Given the description of an element on the screen output the (x, y) to click on. 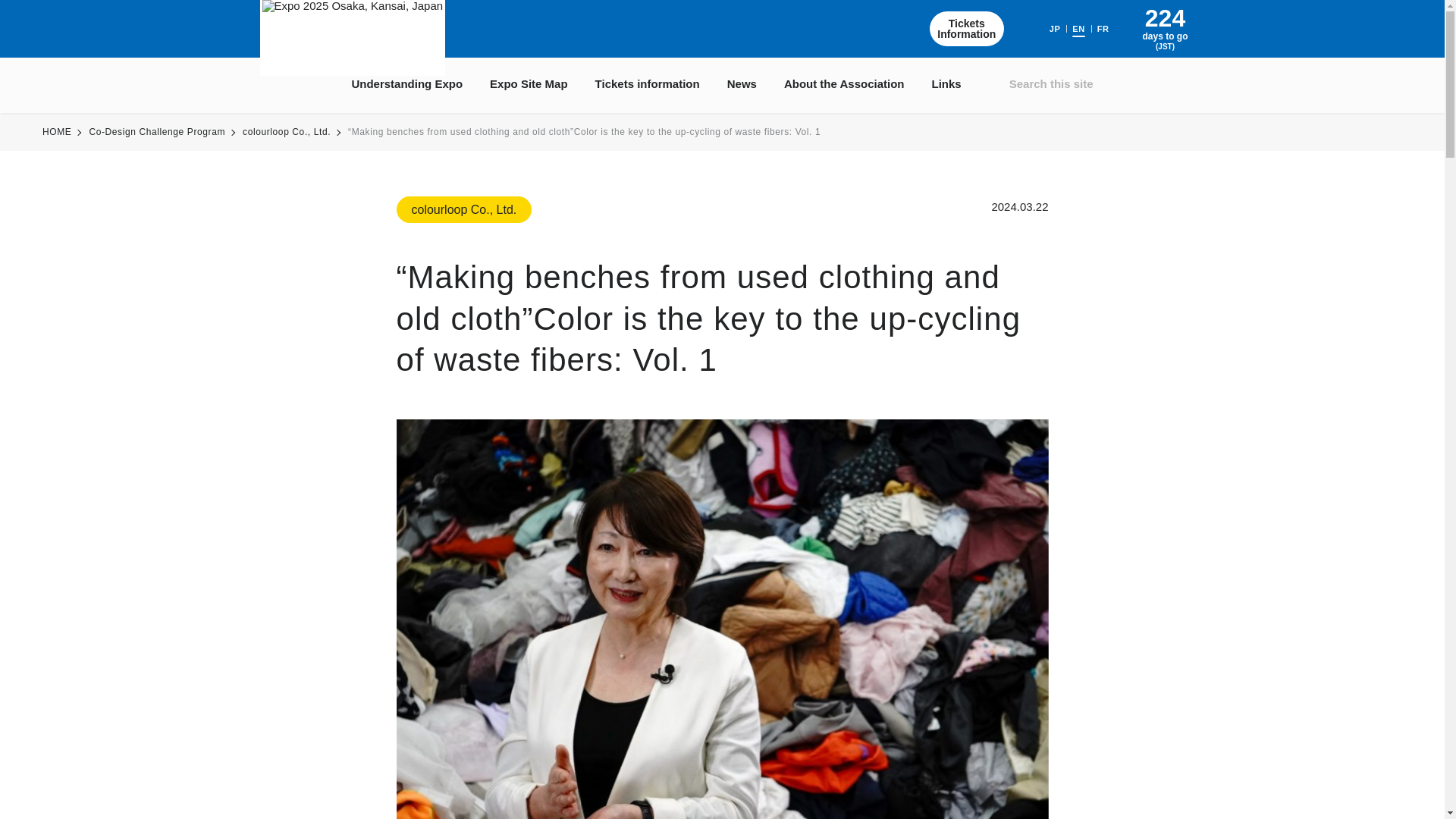
Tickets information (647, 83)
FR (1103, 28)
JP (967, 28)
Expo Site Map (1055, 28)
Search this site (528, 83)
Links (1040, 83)
